Given the description of an element on the screen output the (x, y) to click on. 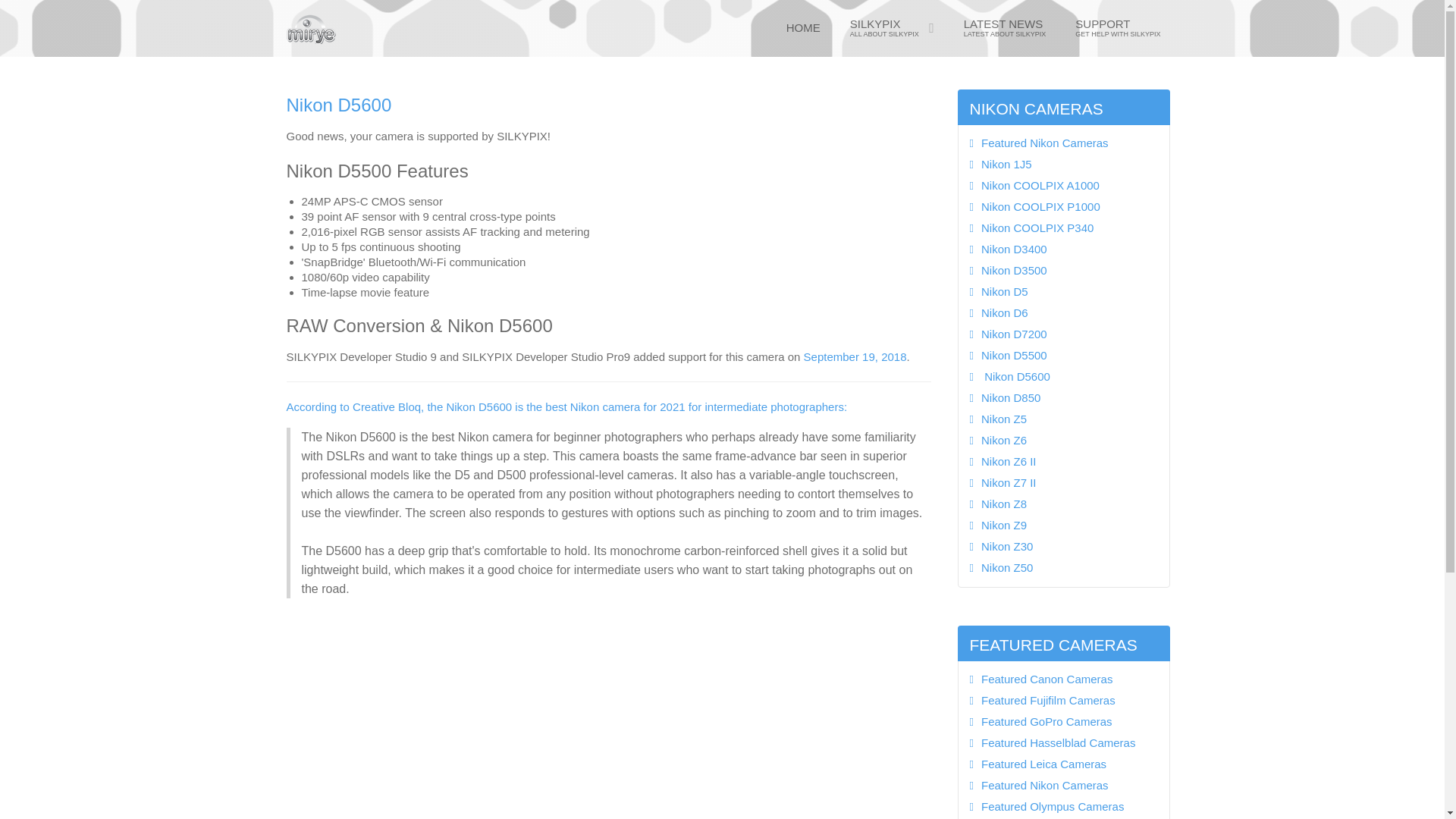
Nikon Z50 (1063, 567)
HOME (803, 28)
Featured Fujifilm Cameras (1063, 700)
Nikon D3400 (1063, 249)
Nikon Z9 (892, 28)
Featured Olympus Cameras (1117, 28)
Featured GoPro Cameras (1063, 525)
Nikon Z30 (1063, 806)
